Given the description of an element on the screen output the (x, y) to click on. 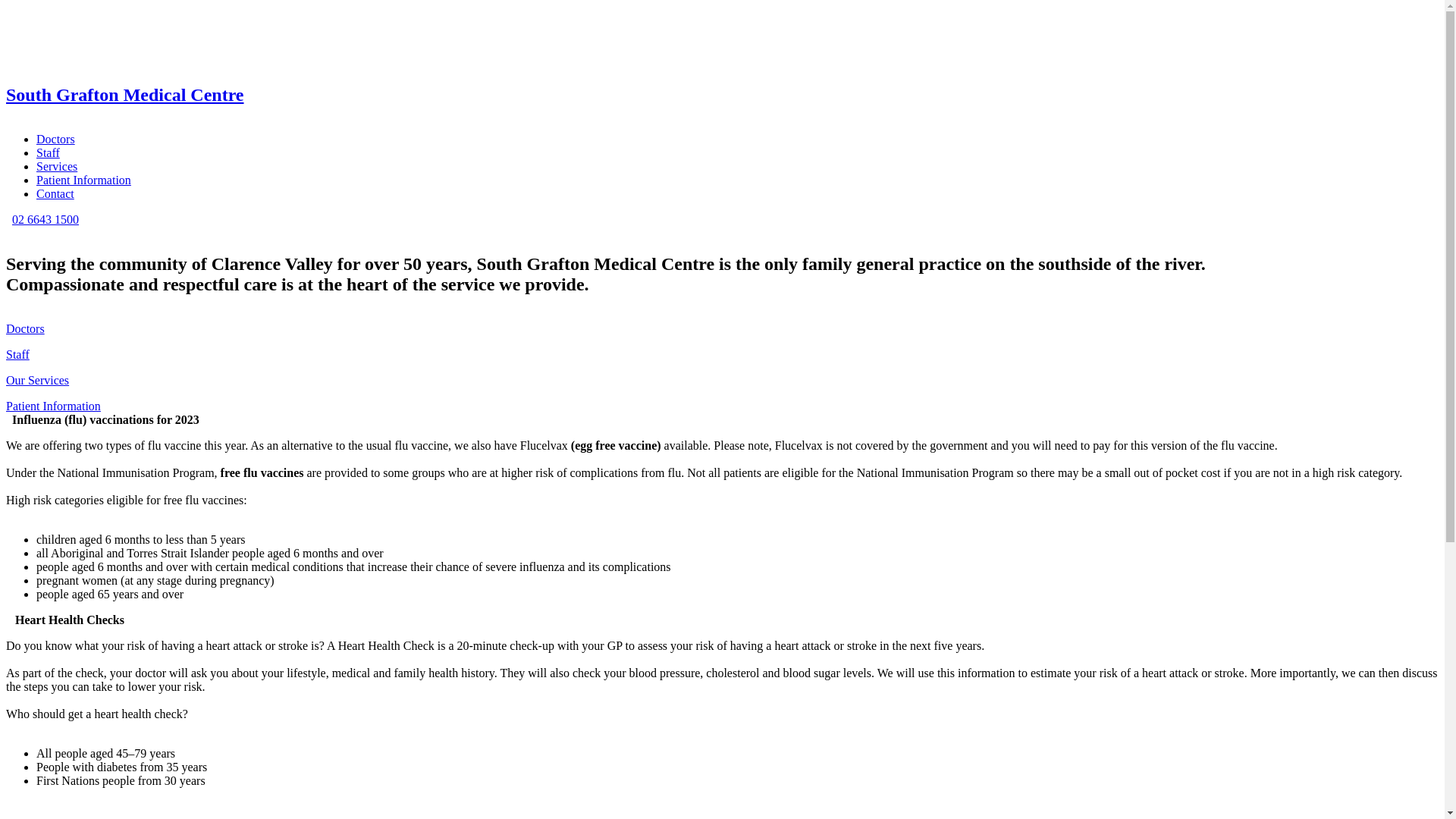
02 6643 1500 Element type: text (45, 219)
Our Services Element type: text (37, 379)
South Grafton Medical Centre Element type: text (125, 94)
Doctors Element type: text (25, 328)
Staff Element type: text (47, 152)
Staff Element type: text (17, 354)
Doctors Element type: text (55, 138)
Patient Information Element type: text (83, 179)
Patient Information Element type: text (53, 405)
Contact Element type: text (55, 193)
Services Element type: text (56, 166)
